Given the description of an element on the screen output the (x, y) to click on. 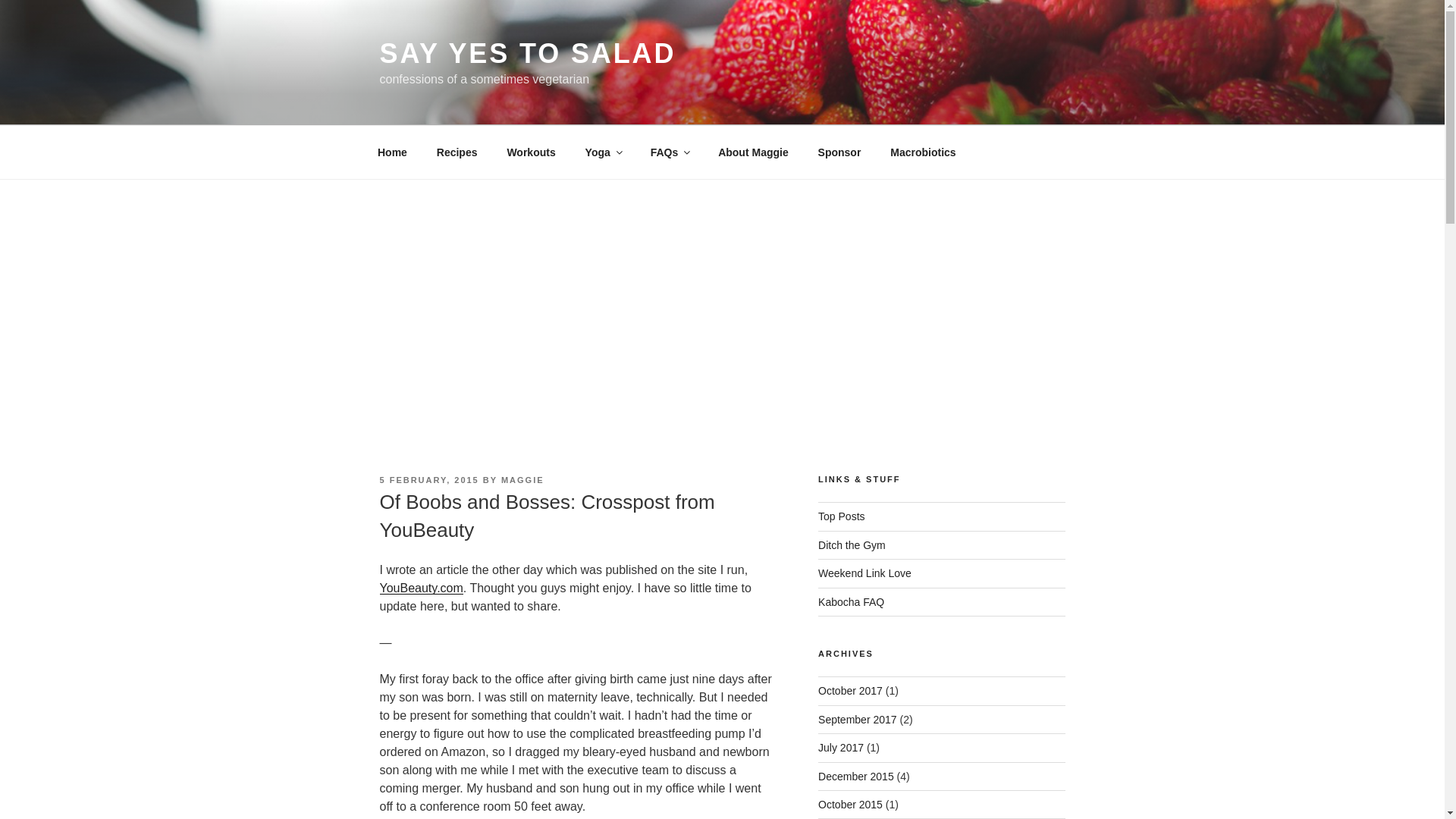
Yoga (602, 151)
Recipes (456, 151)
YouBeauty.com (420, 587)
FAQs (669, 151)
5 FEBRUARY, 2015 (428, 479)
Sponsor (840, 151)
Workouts (531, 151)
FAQs (669, 151)
MAGGIE (522, 479)
Home (392, 151)
SAY YES TO SALAD (526, 52)
About Maggie (753, 151)
Macrobiotics (923, 151)
